Given the description of an element on the screen output the (x, y) to click on. 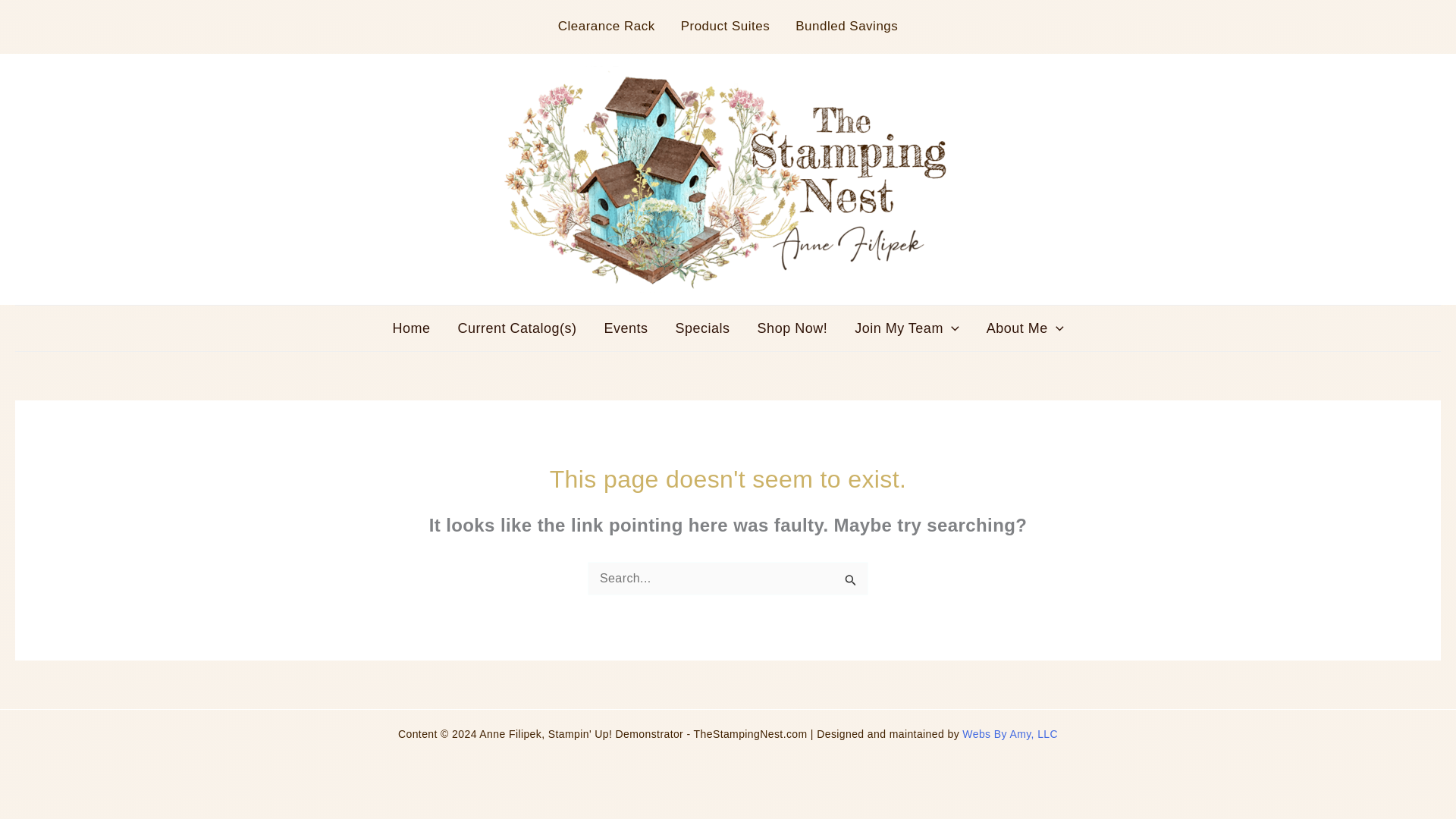
About Me (1024, 328)
Shop Now! (792, 328)
Events (626, 328)
Specials (703, 328)
Home (411, 328)
Clearance Rack (606, 26)
Bundled Savings (847, 26)
Webs By Amy, LLC (1010, 734)
Product Suites (725, 26)
Join My Team (906, 328)
